Given the description of an element on the screen output the (x, y) to click on. 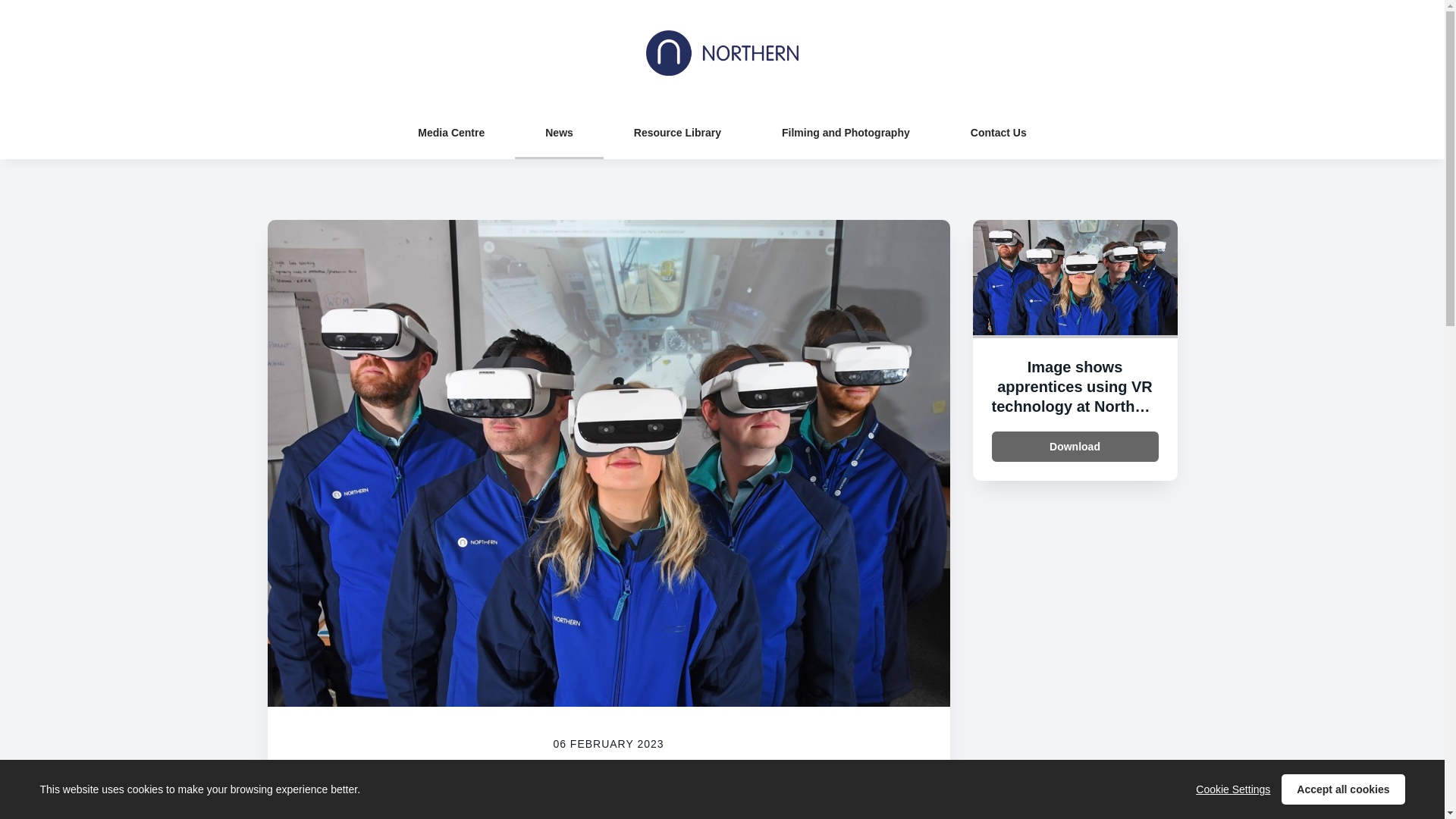
News (559, 132)
Accept all cookies (1343, 788)
Cookie Settings (1232, 788)
Resource Library (677, 132)
Contact Us (998, 132)
Download (1074, 446)
Filming and Photography (845, 132)
Media Centre (451, 132)
